Given the description of an element on the screen output the (x, y) to click on. 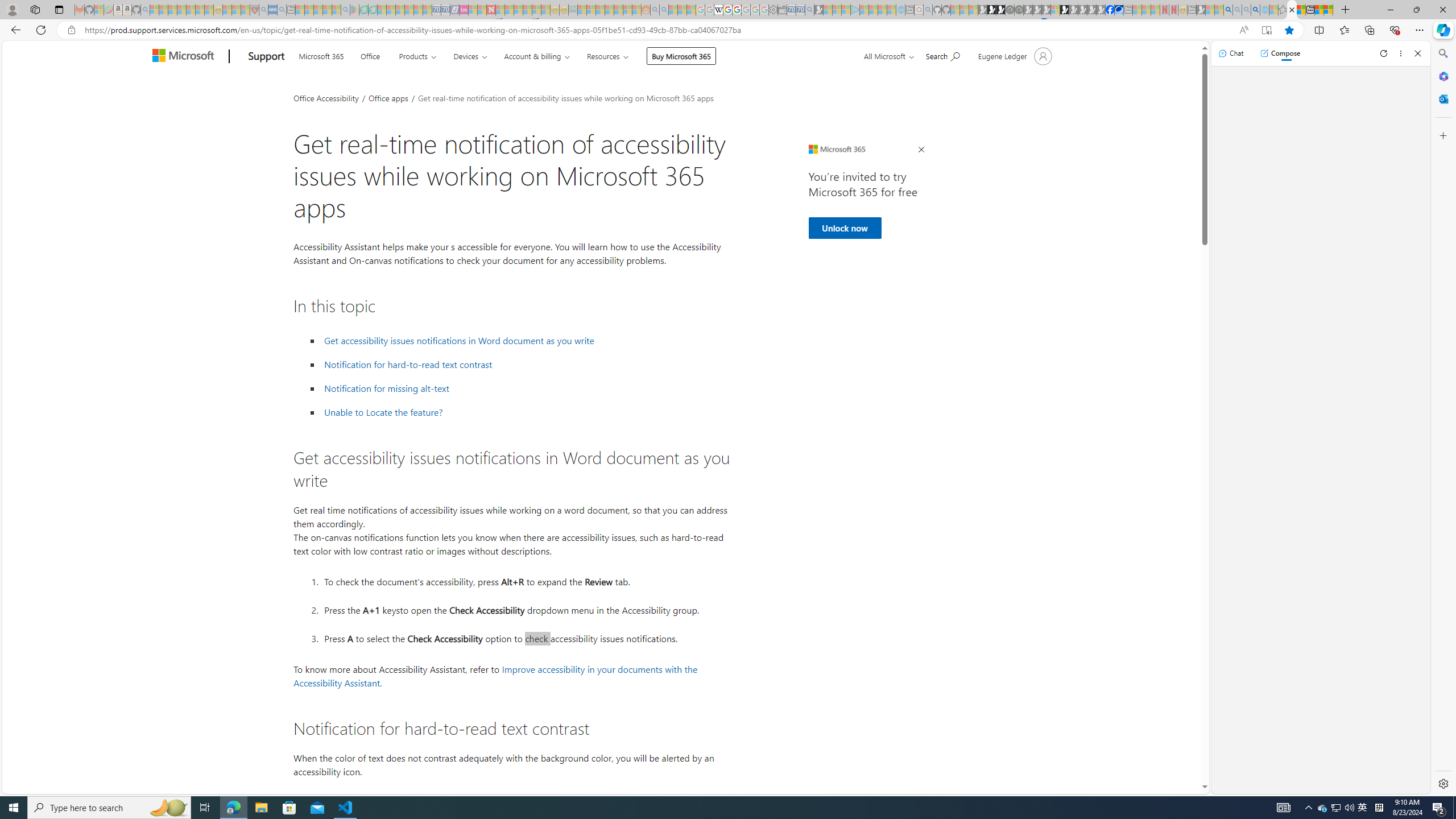
Nordace | Facebook (1109, 9)
Privacy Help Center - Policies Help (726, 9)
Search for help (942, 54)
